Given the description of an element on the screen output the (x, y) to click on. 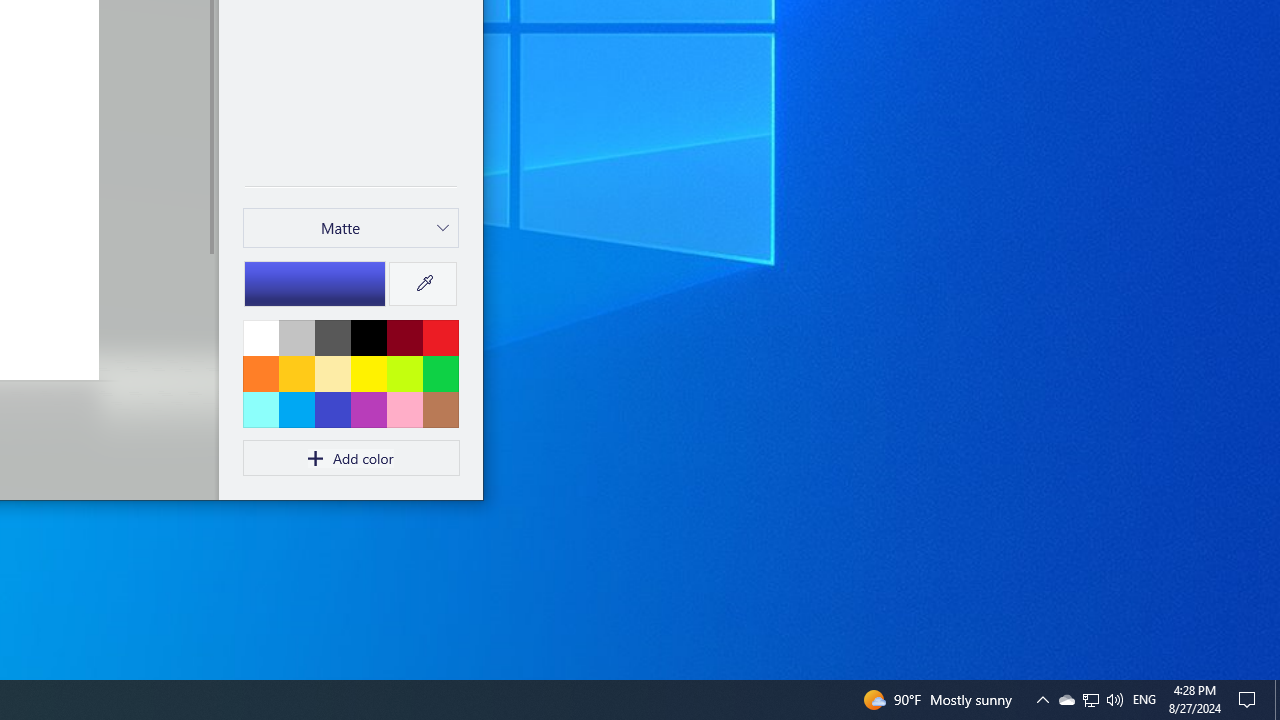
Lime (404, 373)
Vertical Large Increase (210, 369)
Matte (340, 228)
Dark red (404, 337)
Rose (404, 409)
White (261, 337)
Orange (261, 373)
Brown (440, 409)
Add color (351, 458)
Gold (296, 373)
Red (440, 337)
